Given the description of an element on the screen output the (x, y) to click on. 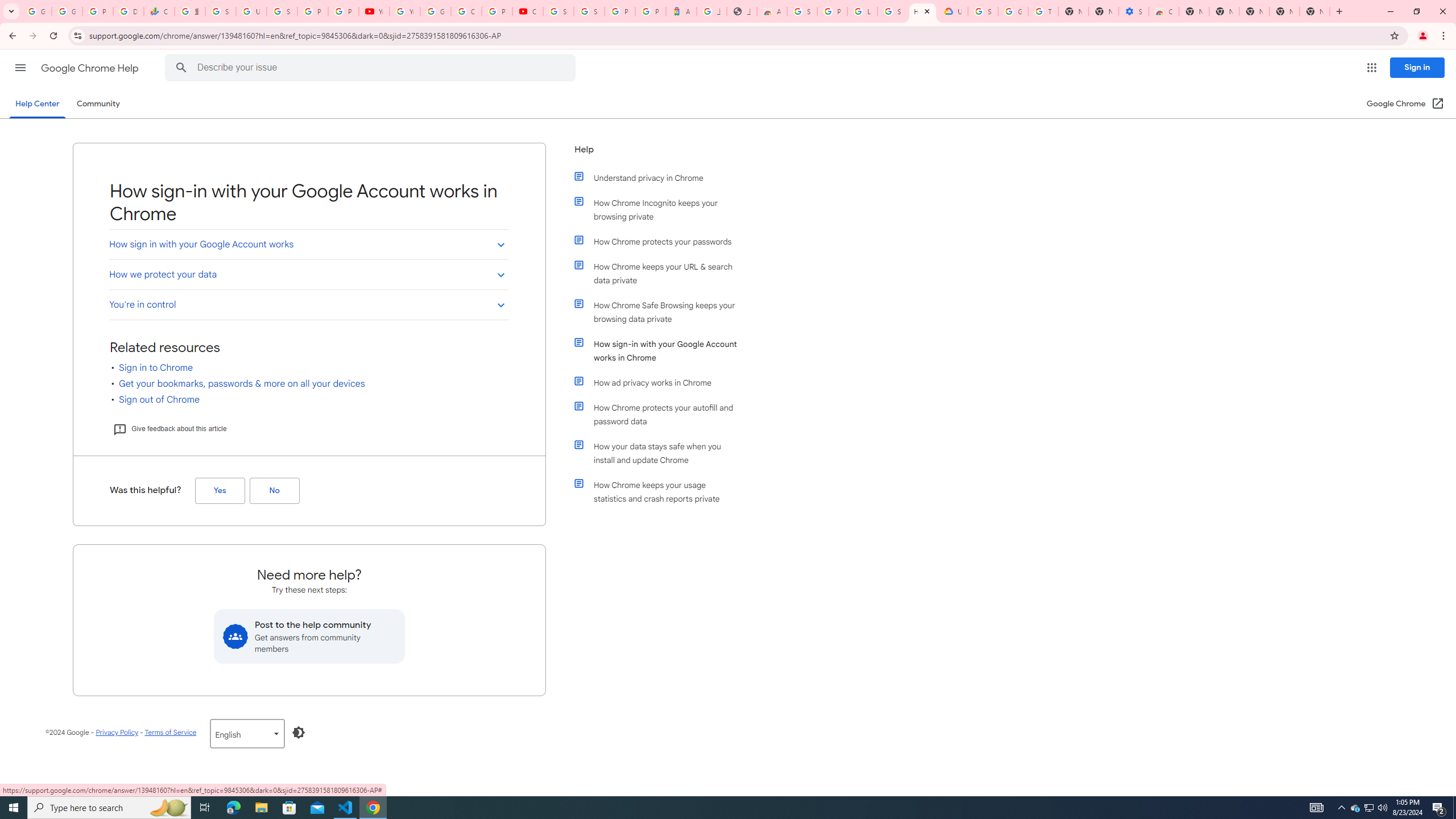
How sign-in with your Google Account works in Chrome (661, 350)
Describe your issue (371, 67)
Help Center (36, 103)
Google Account Help (1012, 11)
Sign in - Google Accounts (589, 11)
Awesome Screen Recorder & Screenshot - Chrome Web Store (771, 11)
You're in control (308, 304)
Turn cookies on or off - Computer - Google Account Help (1042, 11)
